Given the description of an element on the screen output the (x, y) to click on. 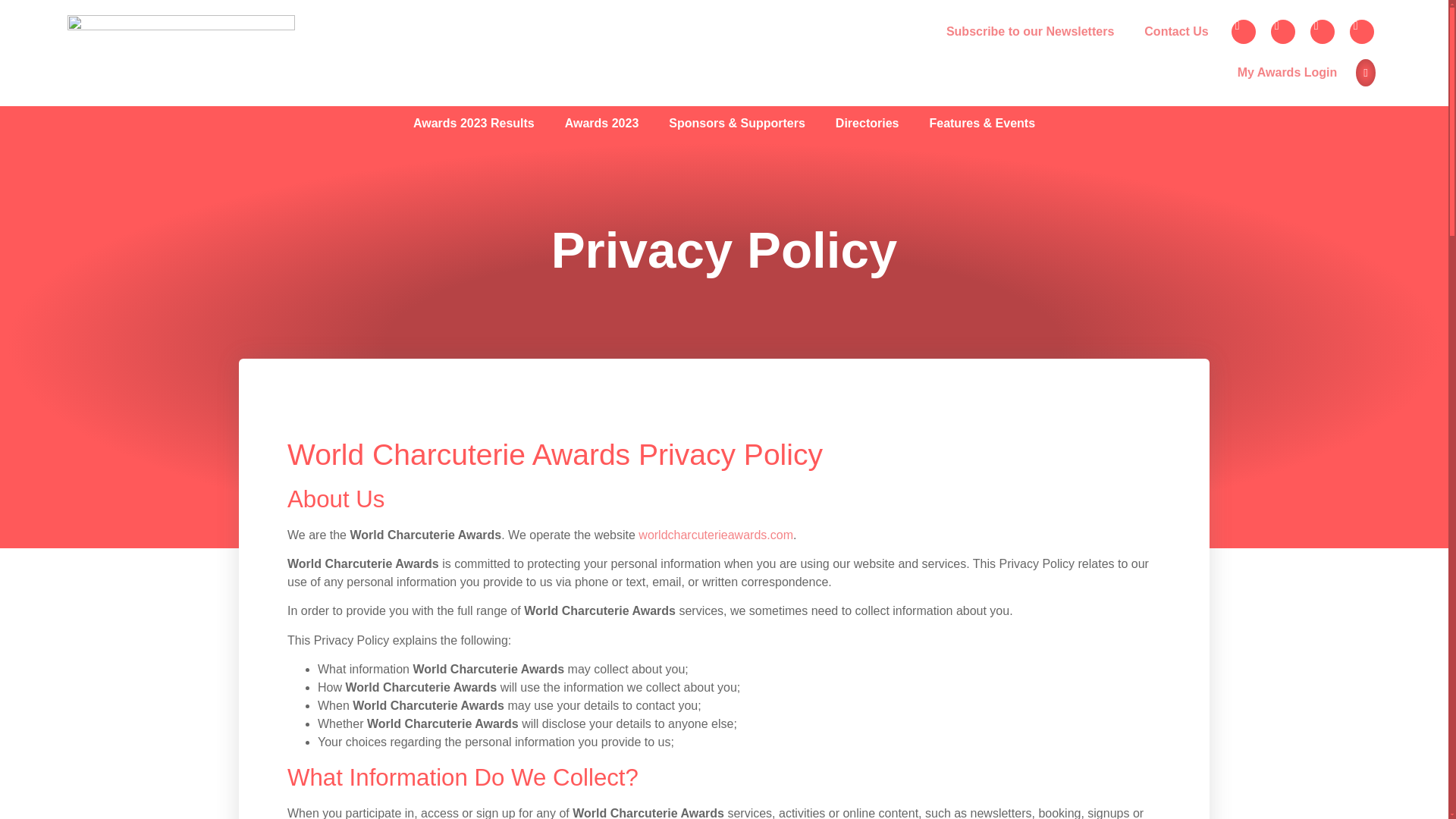
Directories (867, 123)
Subscribe to our Newsletters (1029, 31)
My Awards Login (1287, 72)
Contact Us (1176, 31)
Awards 2023 Results (473, 123)
Awards 2023 (601, 123)
